Given the description of an element on the screen output the (x, y) to click on. 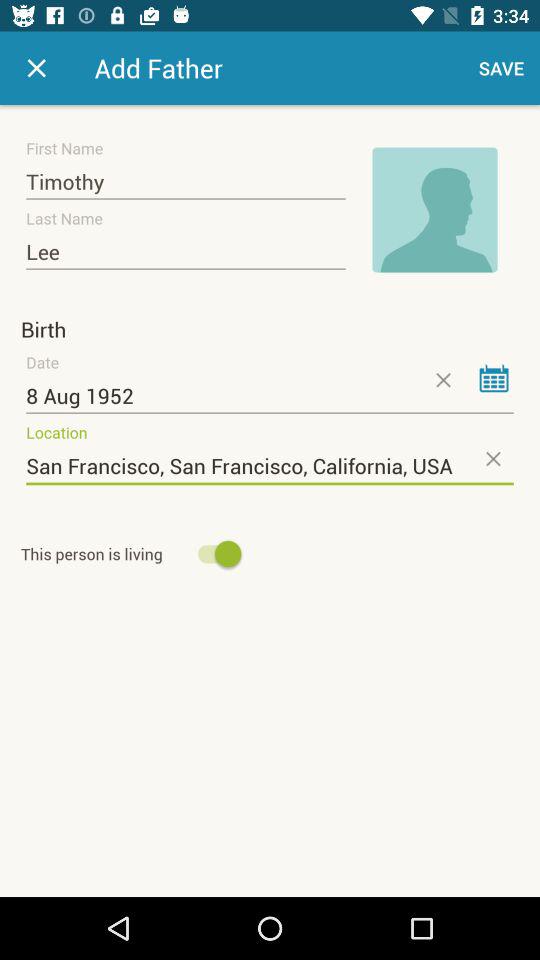
launch icon next to add father item (36, 68)
